Given the description of an element on the screen output the (x, y) to click on. 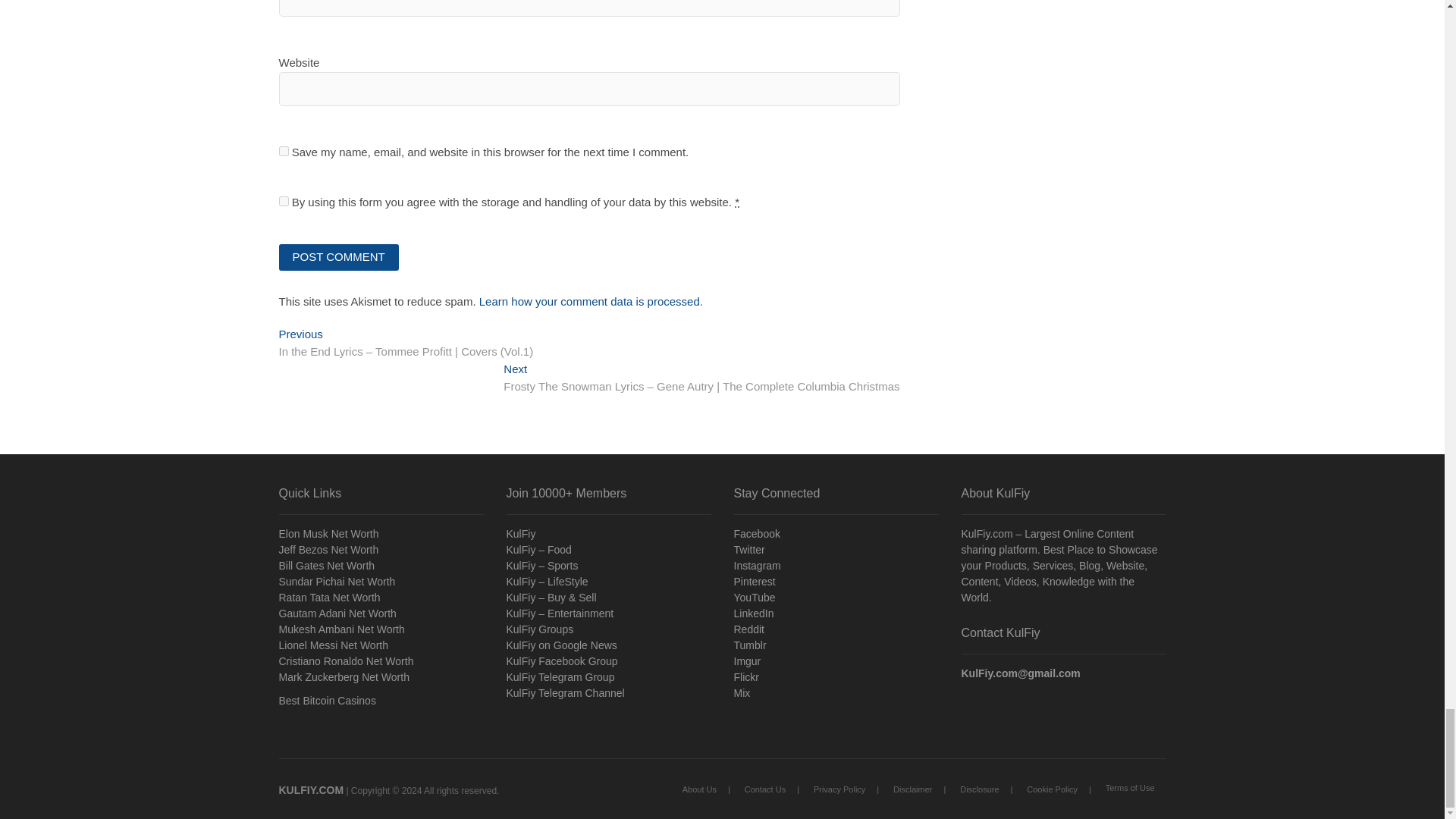
1 (283, 201)
Post Comment (338, 257)
yes (283, 151)
